Given the description of an element on the screen output the (x, y) to click on. 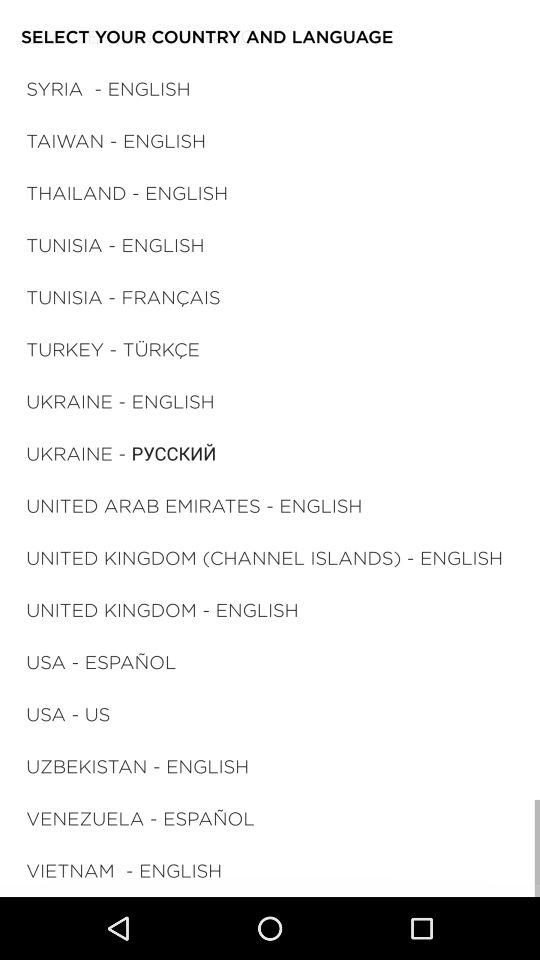
press the item above the uzbekistan - english icon (68, 713)
